Given the description of an element on the screen output the (x, y) to click on. 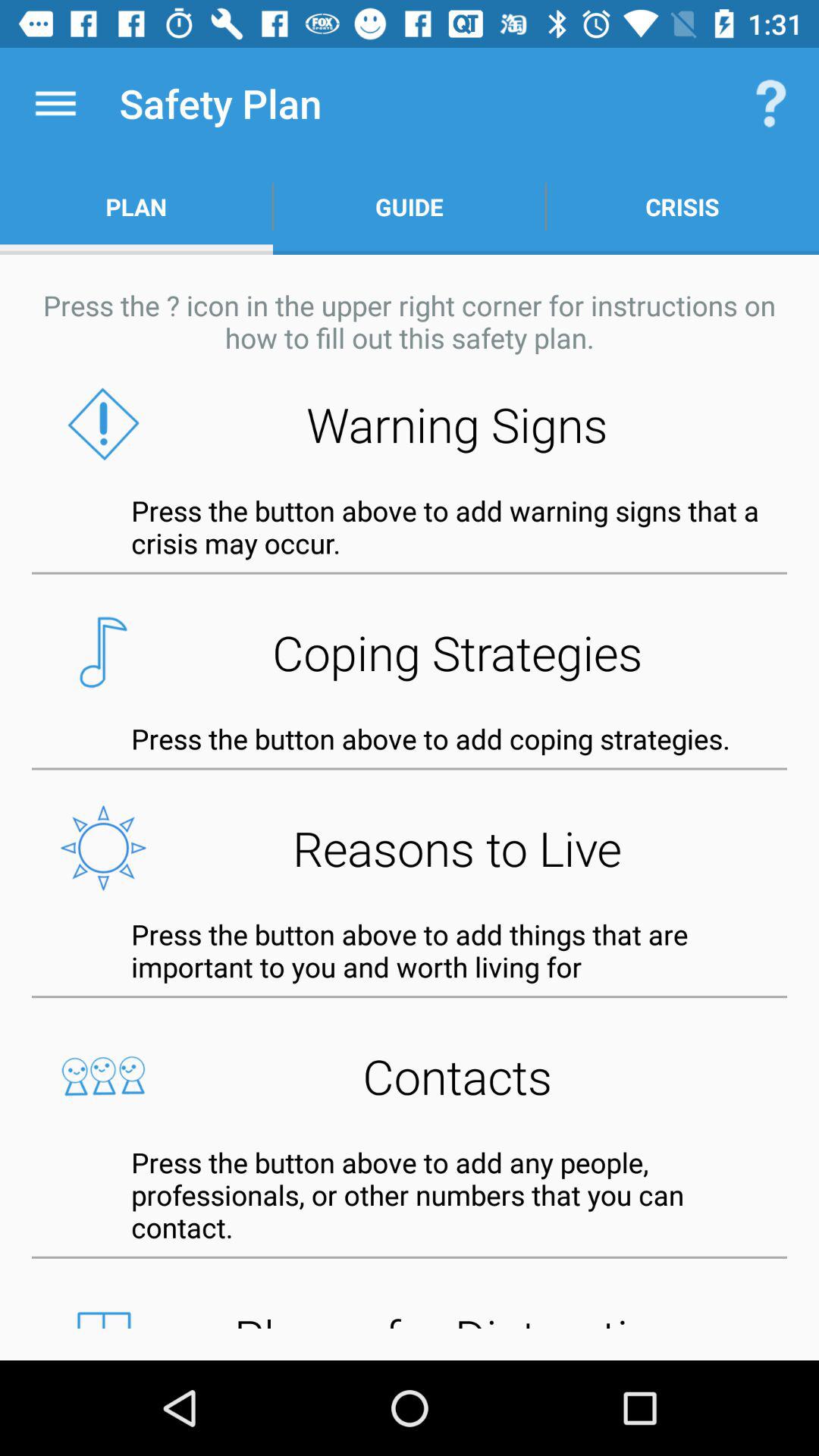
select the item next to the plan icon (409, 206)
